Given the description of an element on the screen output the (x, y) to click on. 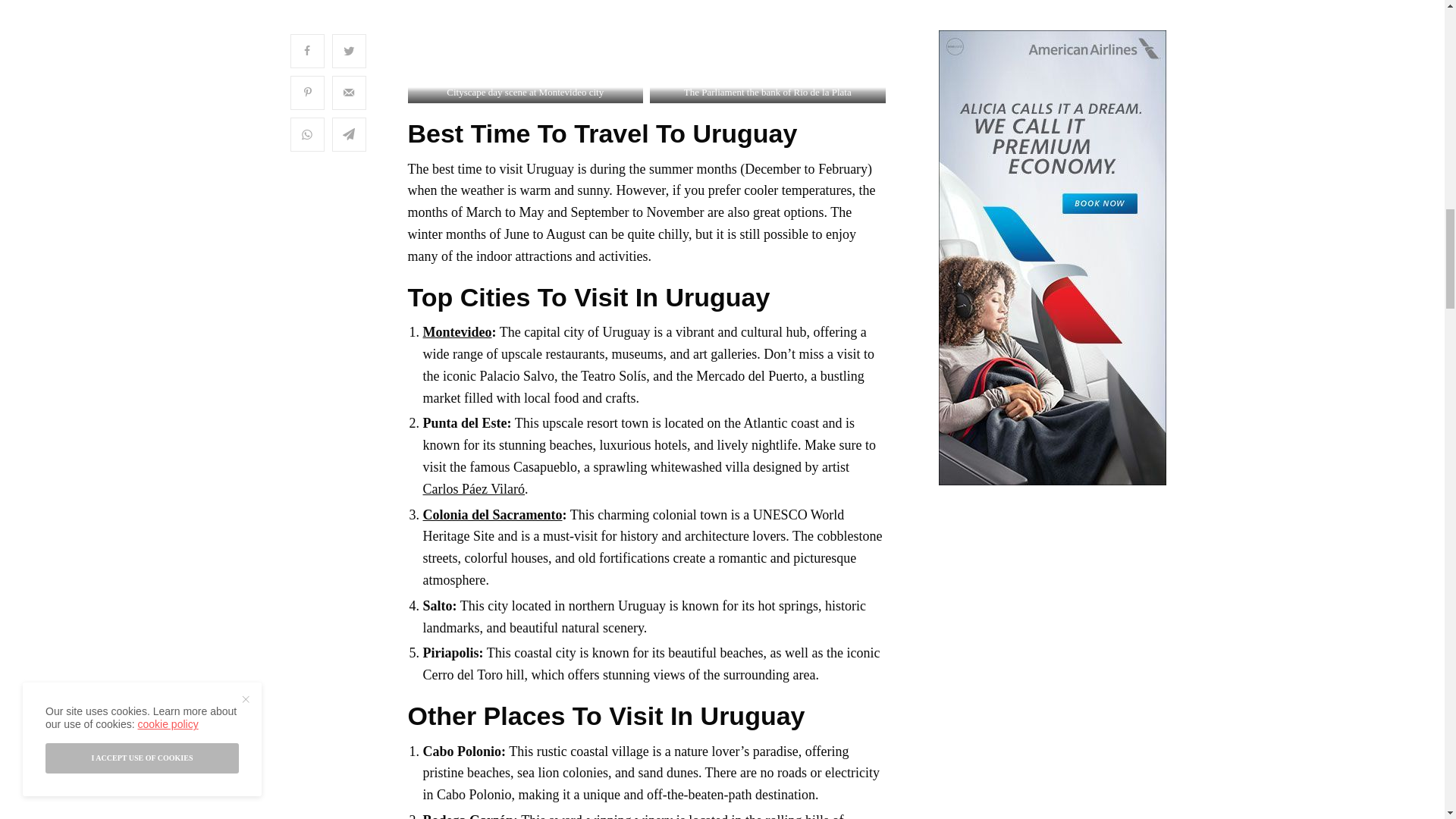
Colonia del Sacramento (492, 514)
Montevideo (457, 331)
Montevideo Cityscape Uruguay - The Voyage Magazine (525, 52)
